Given the description of an element on the screen output the (x, y) to click on. 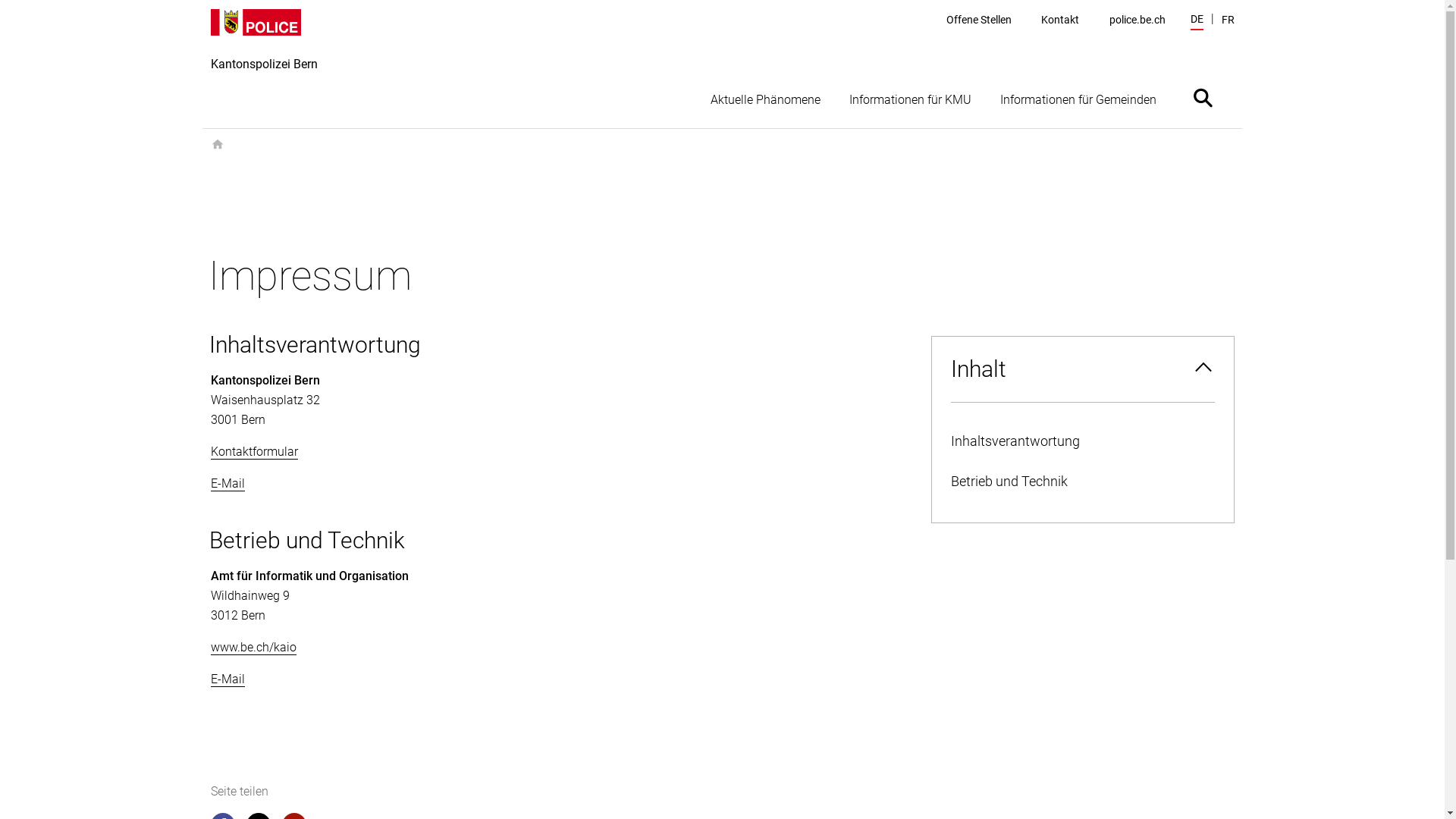
Inhaltsverantwortung Element type: text (1082, 441)
E-Mail Element type: text (227, 679)
Kontaktformular Element type: text (254, 451)
police.be.ch Element type: text (1137, 19)
Suche ein- oder ausblenden Element type: text (1201, 96)
www.be.ch/kaio Element type: text (253, 647)
Betrieb und Technik Element type: text (1082, 481)
DE Element type: text (1196, 21)
Offene Stellen Element type: text (978, 19)
E-Mail Element type: text (227, 483)
Inhalt Element type: text (1082, 368)
FR Element type: text (1226, 19)
Kantonspolizei Bern Element type: text (263, 68)
Kontakt Element type: text (1060, 19)
